Given the description of an element on the screen output the (x, y) to click on. 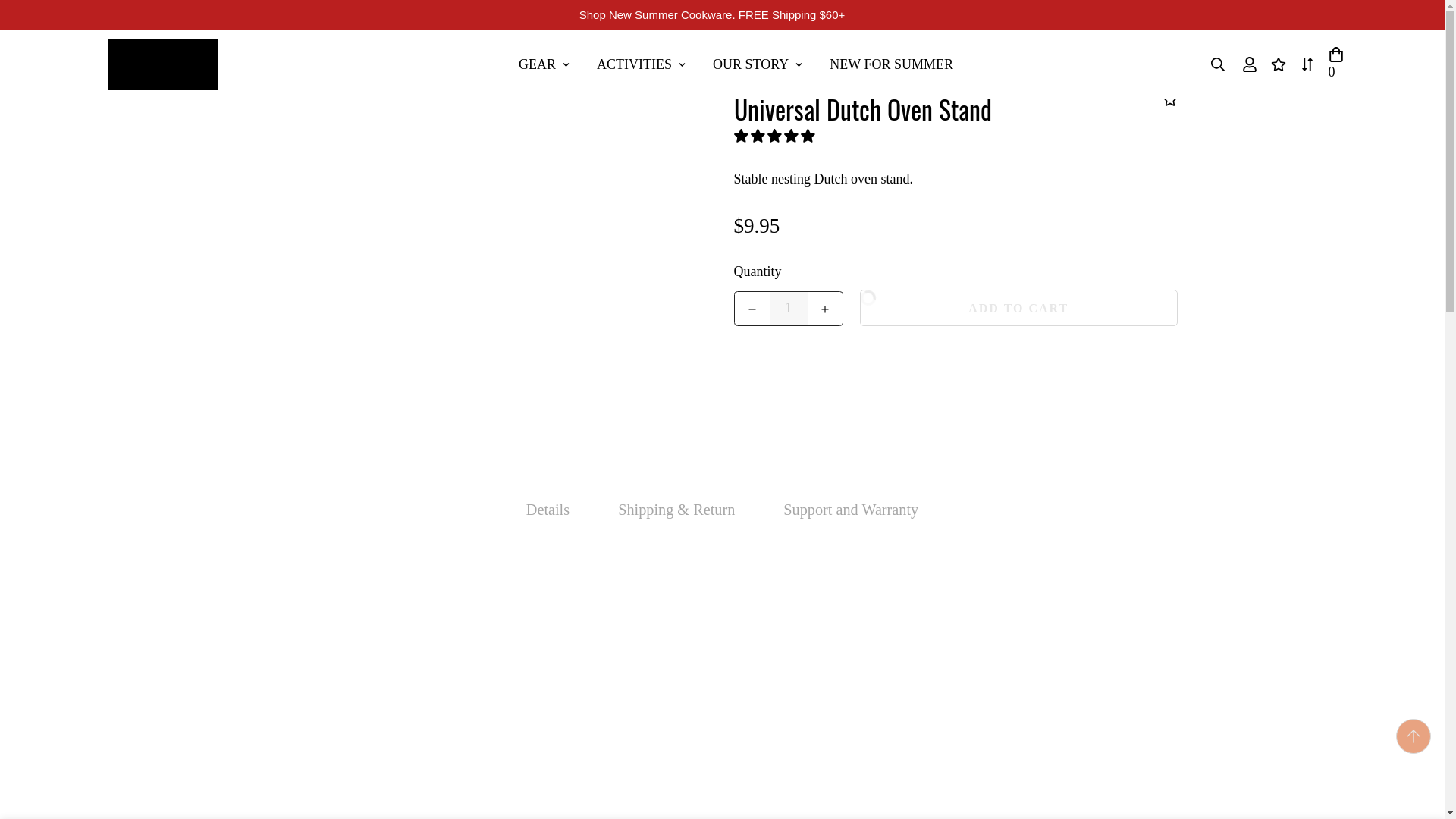
ACTIVITIES (640, 64)
NEW FOR SUMMER (890, 64)
OUR STORY (756, 64)
GSI Outdoors (735, 64)
1 (161, 64)
GEAR (735, 64)
Back to the home page (787, 308)
